Given the description of an element on the screen output the (x, y) to click on. 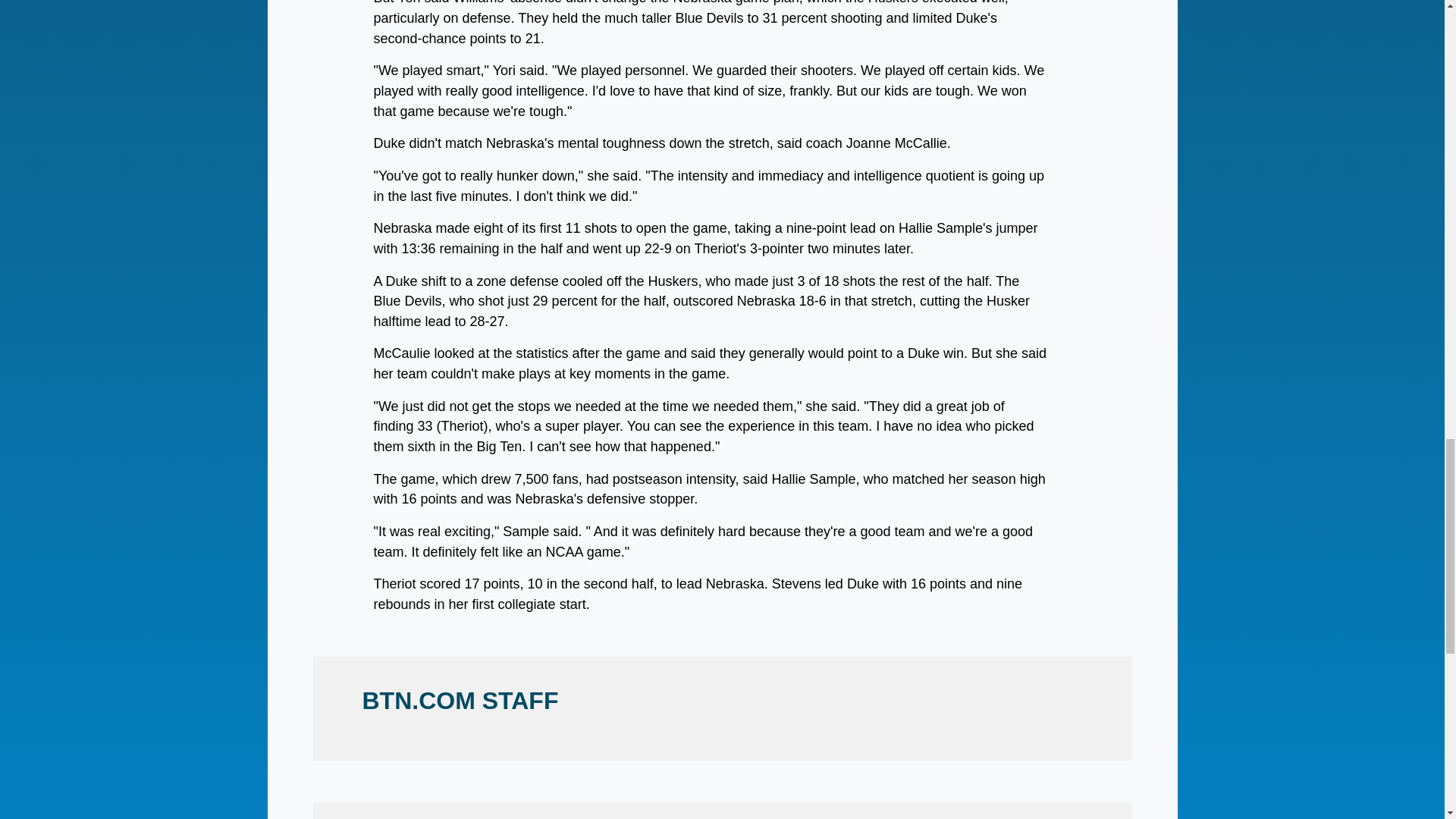
LIVEBIG (98, 177)
Icon-base-btn-plus-mobile (45, 132)
BTN on Linktree (327, 344)
For the Media (327, 299)
Careers (327, 322)
Icon-base-btn-plus-mobile (45, 131)
Executive Team (1012, 344)
Talent (1012, 322)
icon-base-livebig-mobile (45, 177)
Licensing (327, 276)
Social Media (1012, 231)
About (327, 231)
SEARCH (818, 217)
FAQ (1012, 253)
Sign up and watch now. (802, 29)
